Given the description of an element on the screen output the (x, y) to click on. 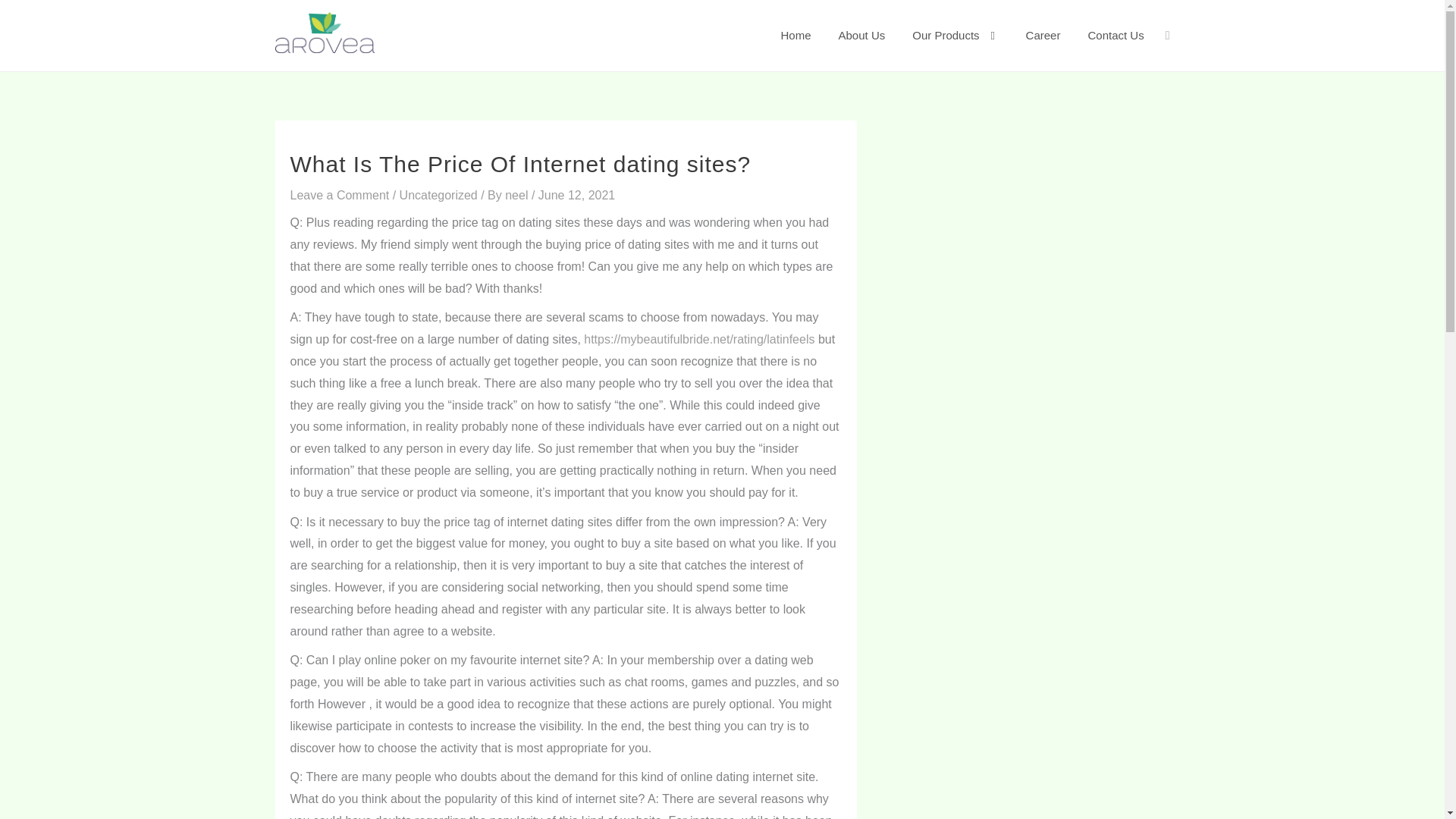
Contact Us (1115, 35)
Career (1042, 35)
Leave a Comment (338, 195)
neel (518, 195)
Uncategorized (437, 195)
About Us (862, 35)
View all posts by neel (518, 195)
Our Products (954, 35)
Home (796, 35)
